Given the description of an element on the screen output the (x, y) to click on. 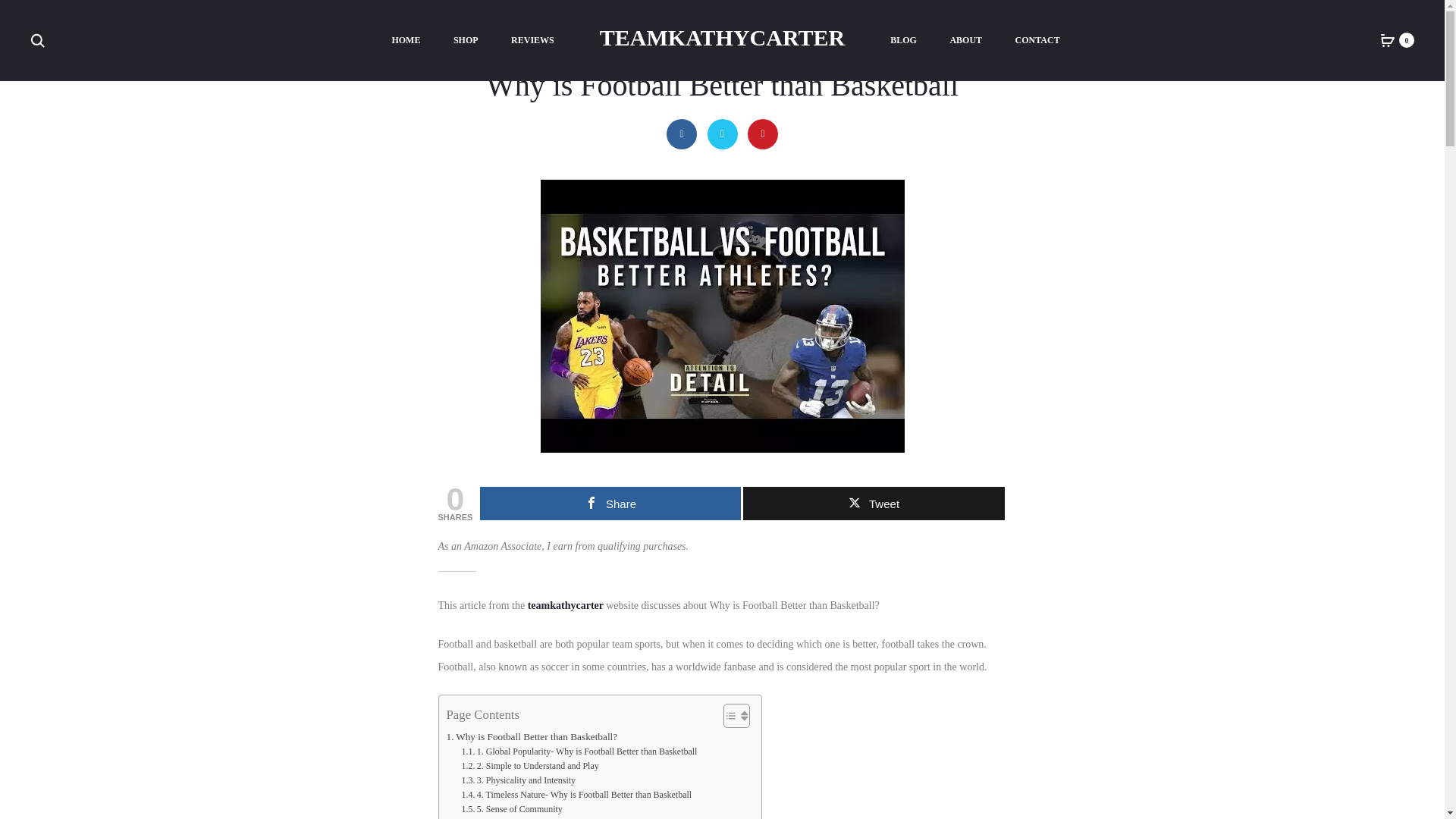
SHOP (465, 40)
Share (610, 503)
1. Global Popularity- Why is Football Better than Basketball (579, 751)
6. Global Competitions (510, 818)
2. Simple to Understand and Play (529, 766)
0 (1387, 39)
2. Simple to Understand and Play (529, 766)
HOME (405, 40)
Why is Football Better than Basketball? (531, 736)
REVIEWS (532, 40)
Tweet (873, 503)
BLOG (903, 40)
teamkathycarter  (567, 604)
3. Physicality and Intensity (518, 780)
6. Global Competitions (510, 818)
